Given the description of an element on the screen output the (x, y) to click on. 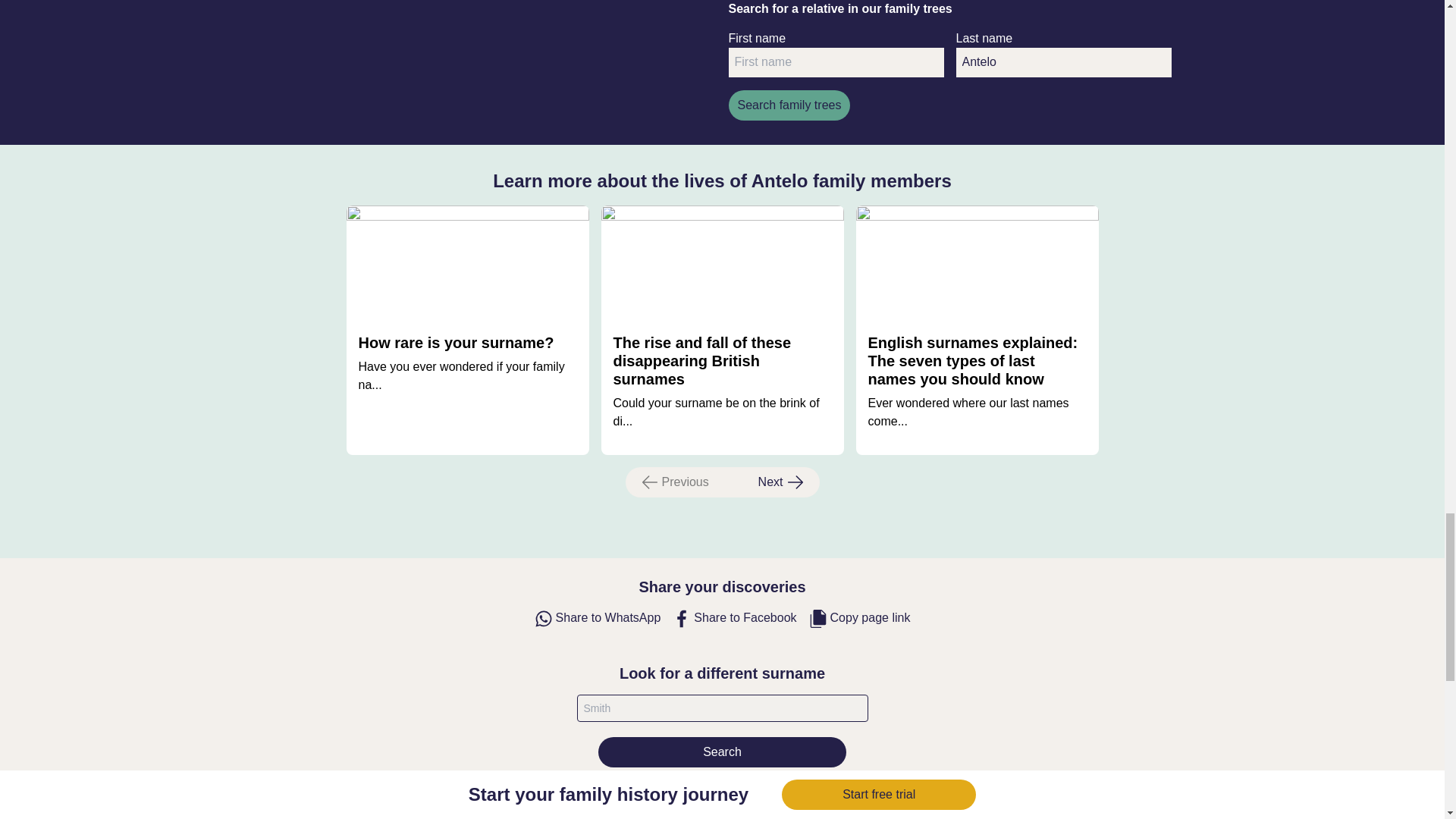
Antelo (672, 482)
Copy page link (1062, 62)
Share to Facebook (860, 618)
Search family trees (734, 618)
Search (782, 482)
Share to WhatsApp (789, 105)
